Given the description of an element on the screen output the (x, y) to click on. 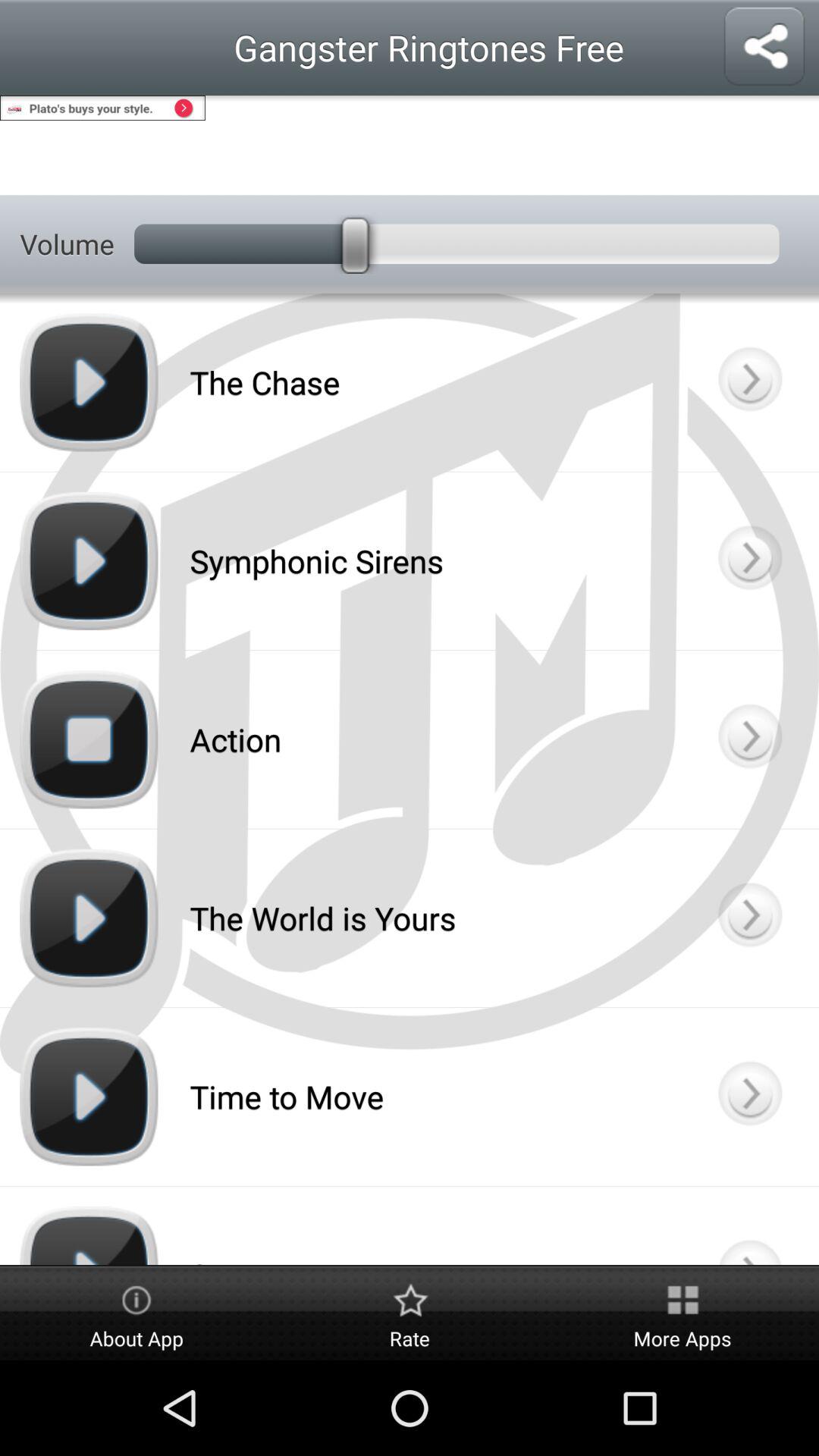
settings (409, 145)
